Given the description of an element on the screen output the (x, y) to click on. 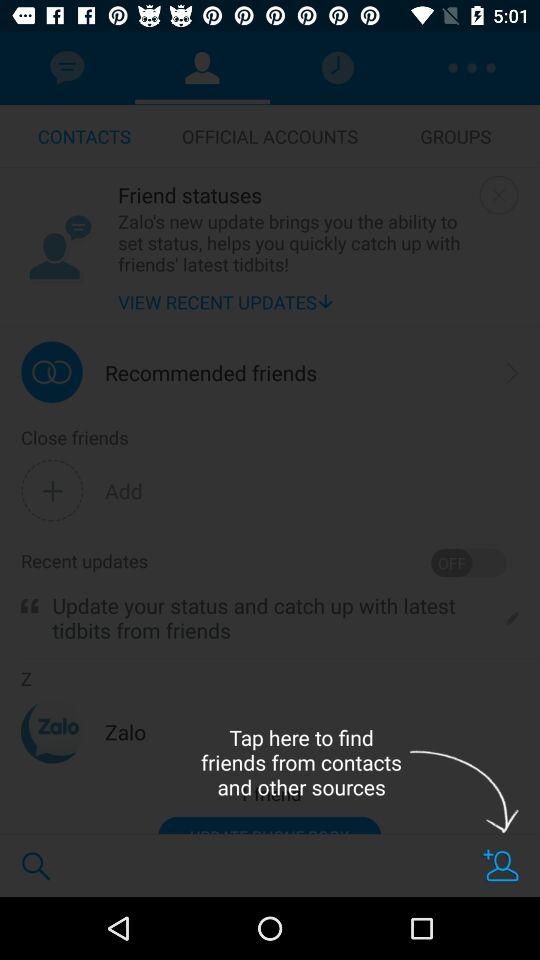
choose the item above update your status (468, 562)
